Given the description of an element on the screen output the (x, y) to click on. 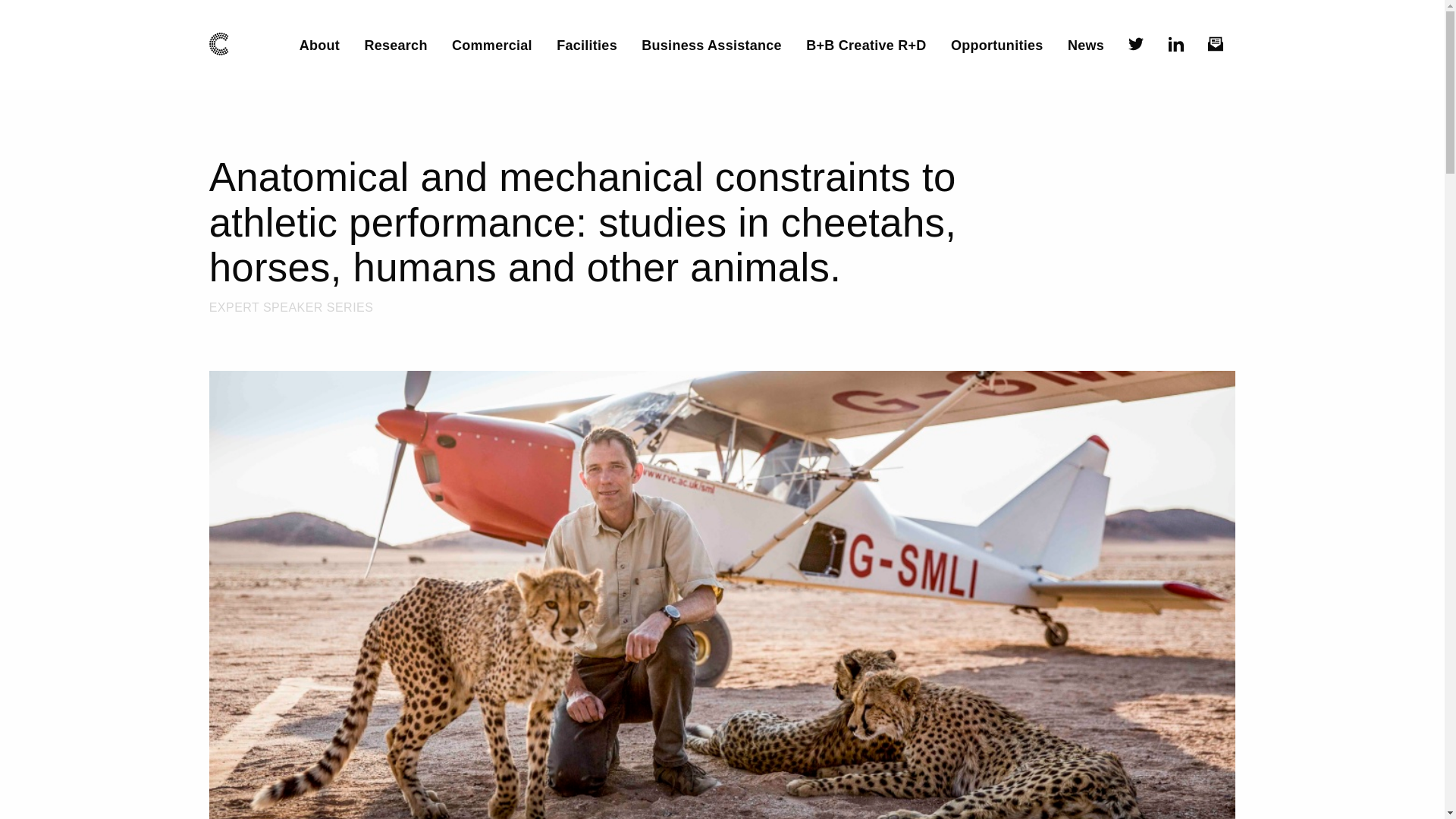
Business Assistance (711, 45)
About (319, 45)
News (1085, 45)
Opportunities (996, 45)
Facilities (586, 45)
Research (395, 45)
Commercial (491, 45)
